Given the description of an element on the screen output the (x, y) to click on. 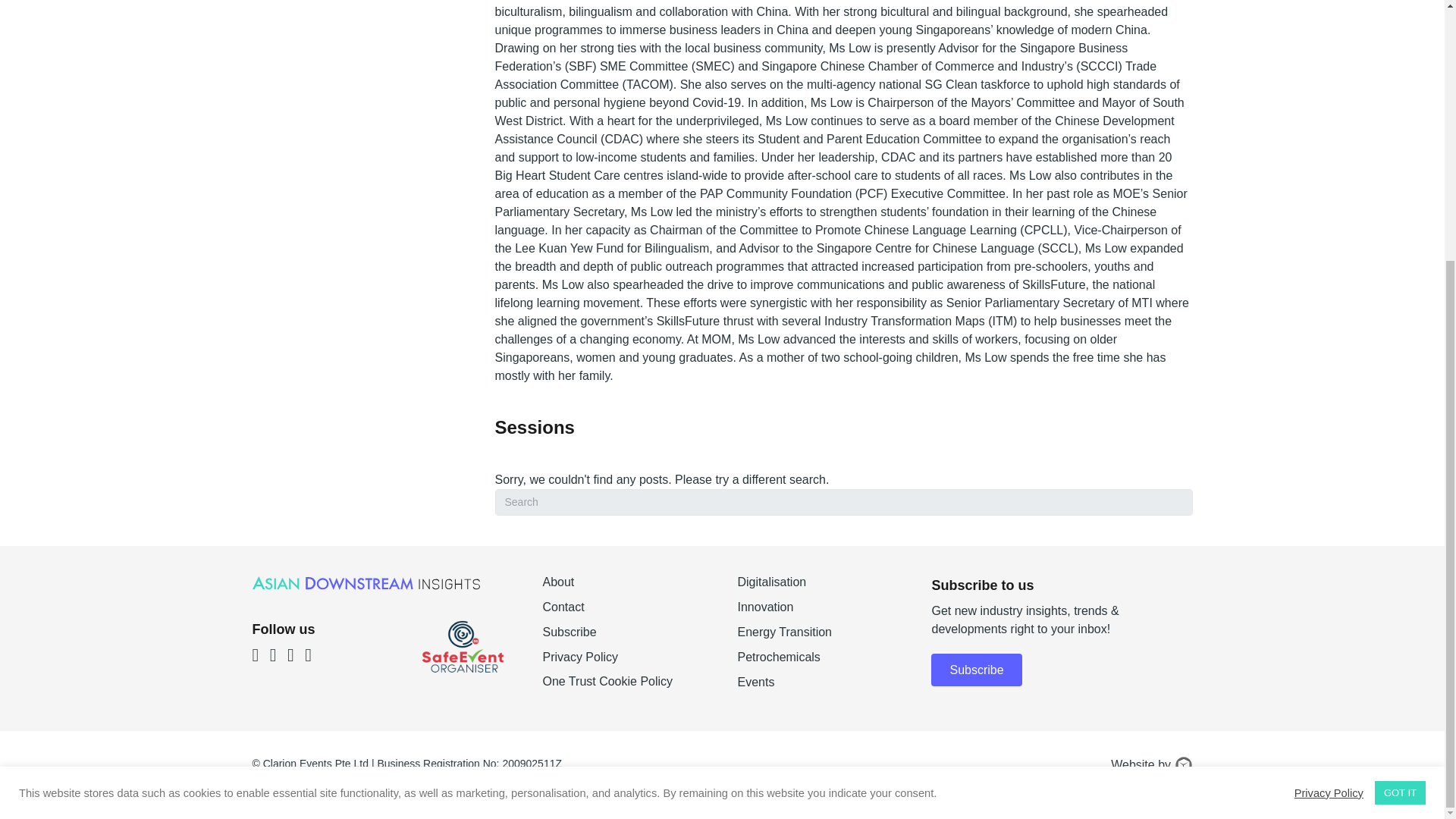
Innovation (818, 613)
Subscribe (976, 669)
Type and press Enter to search. (843, 501)
One Trust Cookie Policy (606, 680)
GOT IT (1399, 418)
Petrochemicals (818, 663)
Energy Transition (818, 638)
Events (818, 688)
Contact (623, 613)
About (623, 588)
Privacy Policy (623, 663)
Privacy Policy (1328, 418)
Digitalisation (818, 588)
Subscribe (623, 638)
Singapore WordPress Developer (1182, 764)
